Given the description of an element on the screen output the (x, y) to click on. 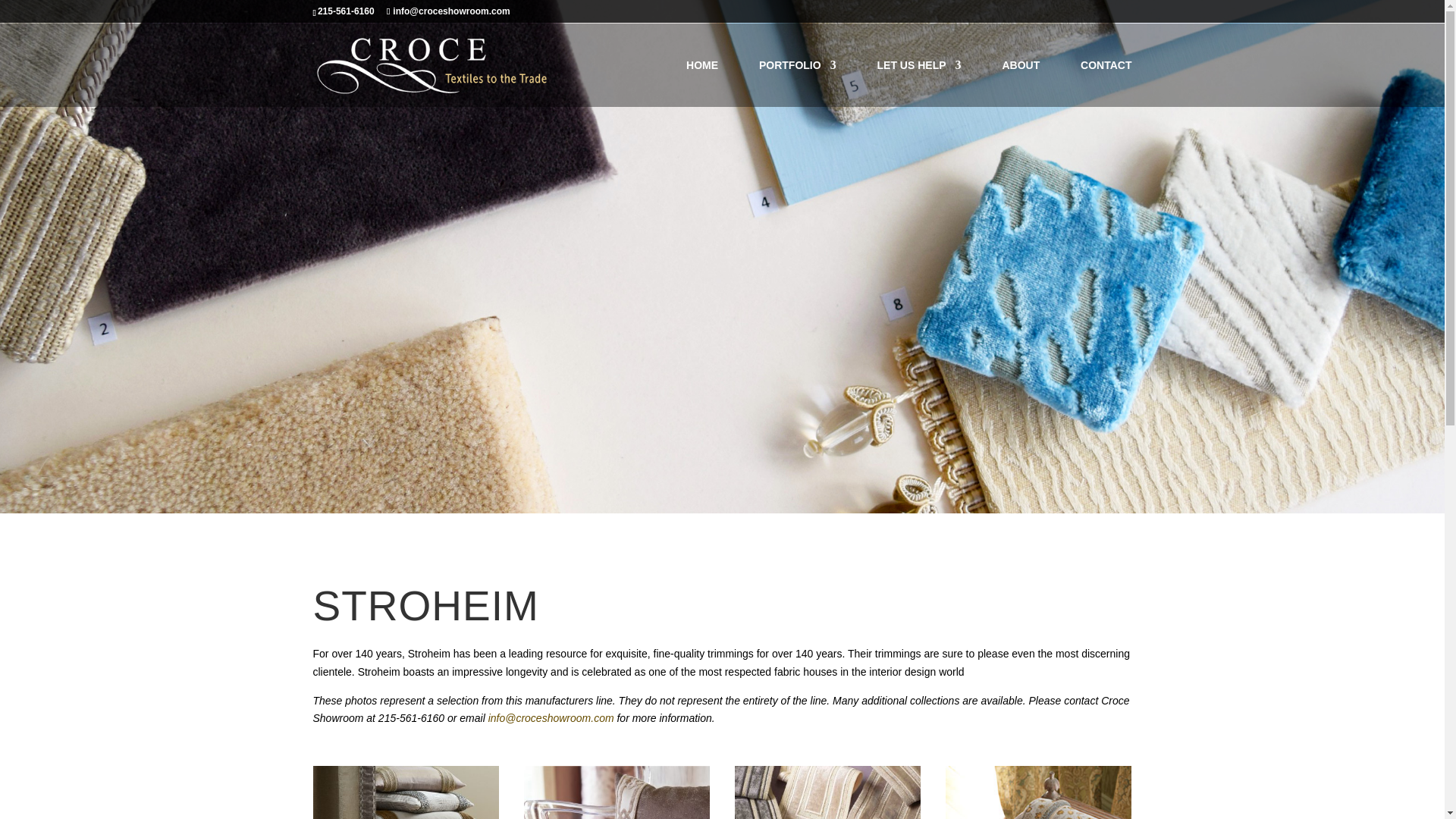
HOME (701, 83)
ABOUT (1020, 83)
PORTFOLIO (796, 83)
CONTACT (1105, 83)
LET US HELP (918, 83)
